Given the description of an element on the screen output the (x, y) to click on. 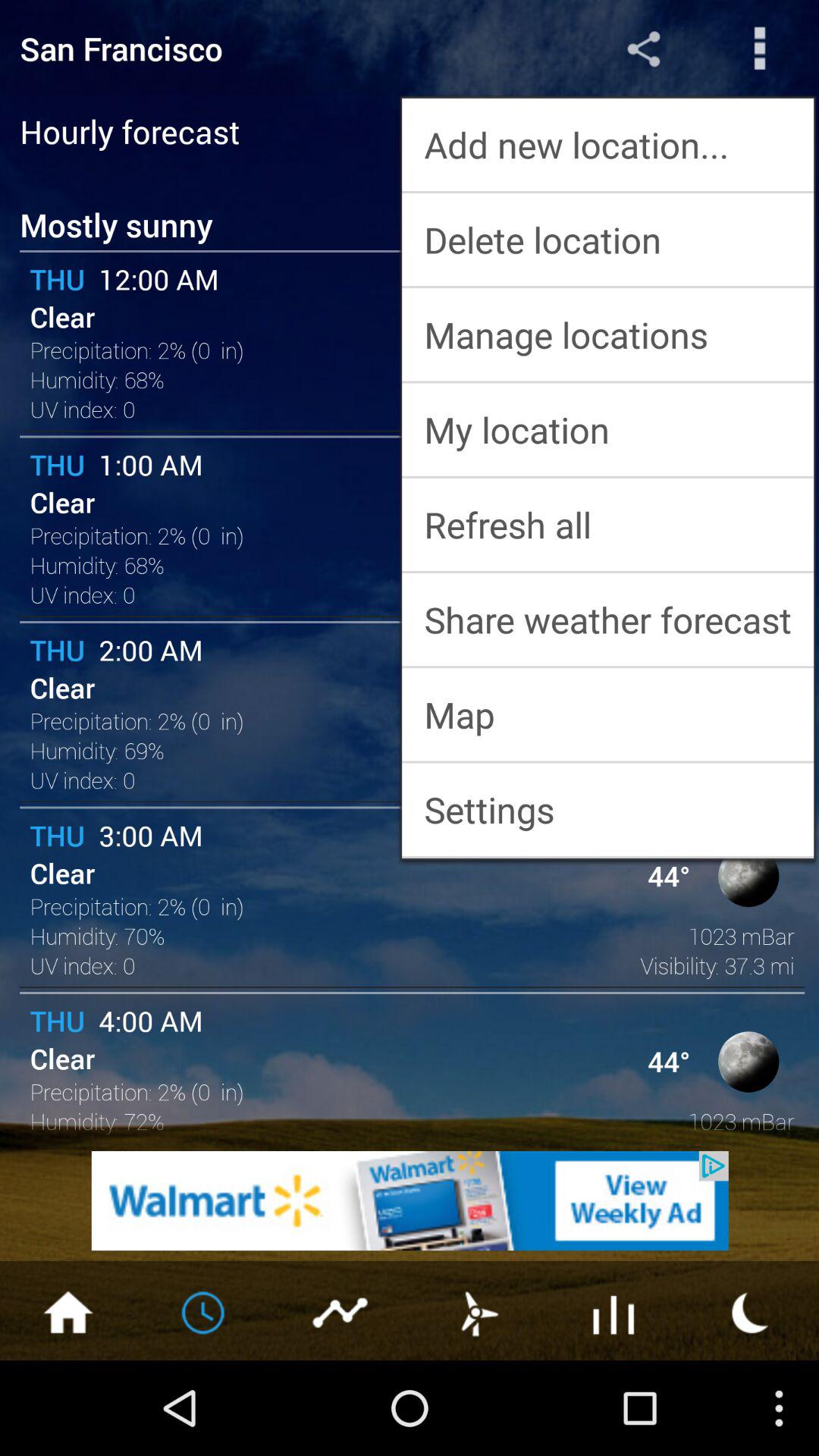
swipe until settings app (607, 809)
